Given the description of an element on the screen output the (x, y) to click on. 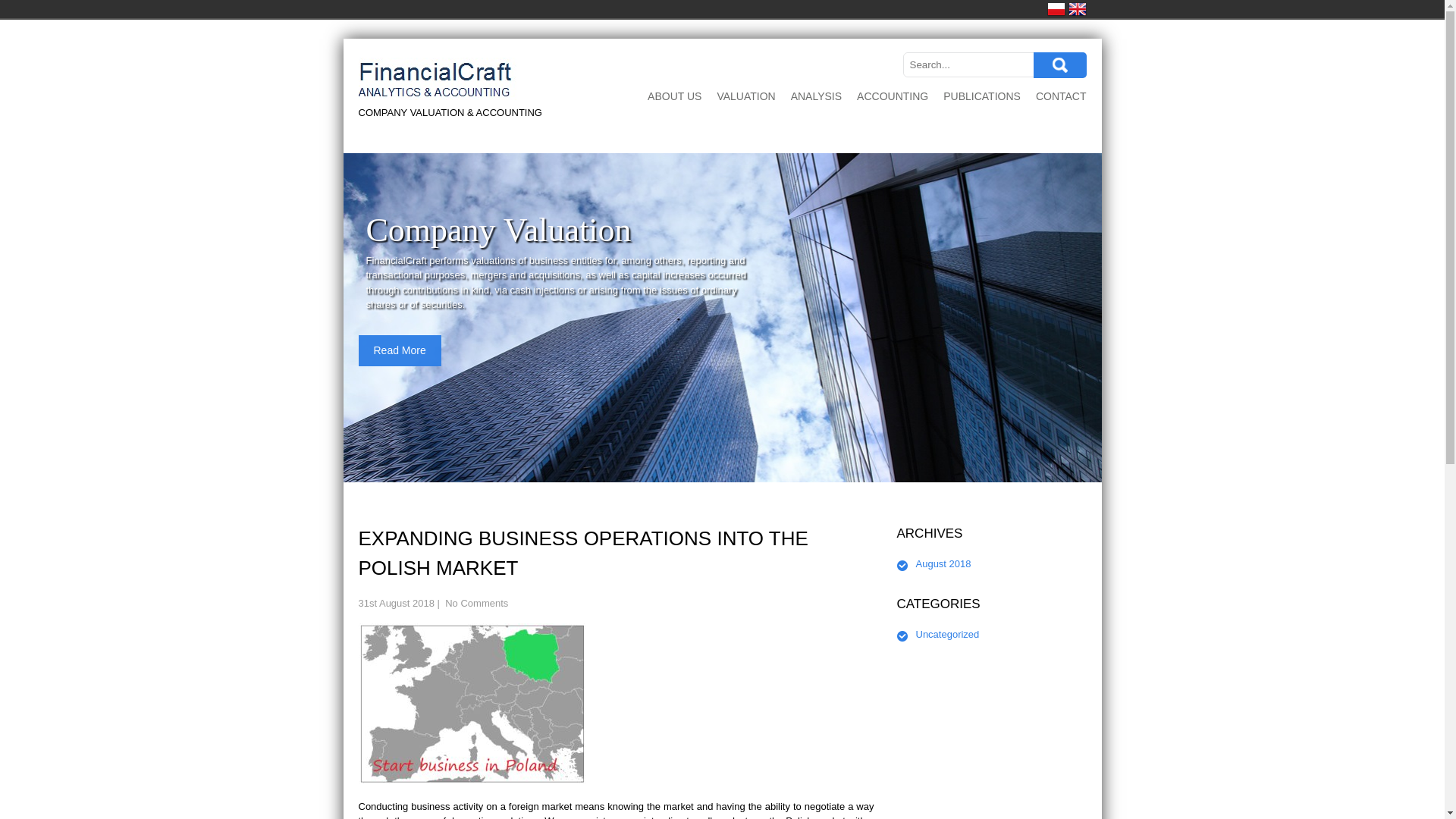
ABOUT US (674, 96)
Search (1059, 64)
United Kingdom (1076, 9)
PUBLICATIONS (981, 96)
Search (1059, 64)
1 (702, 464)
Uncategorized (947, 633)
ANALYSIS (815, 96)
United Kingdom (1076, 9)
No Comments (476, 603)
